Given the description of an element on the screen output the (x, y) to click on. 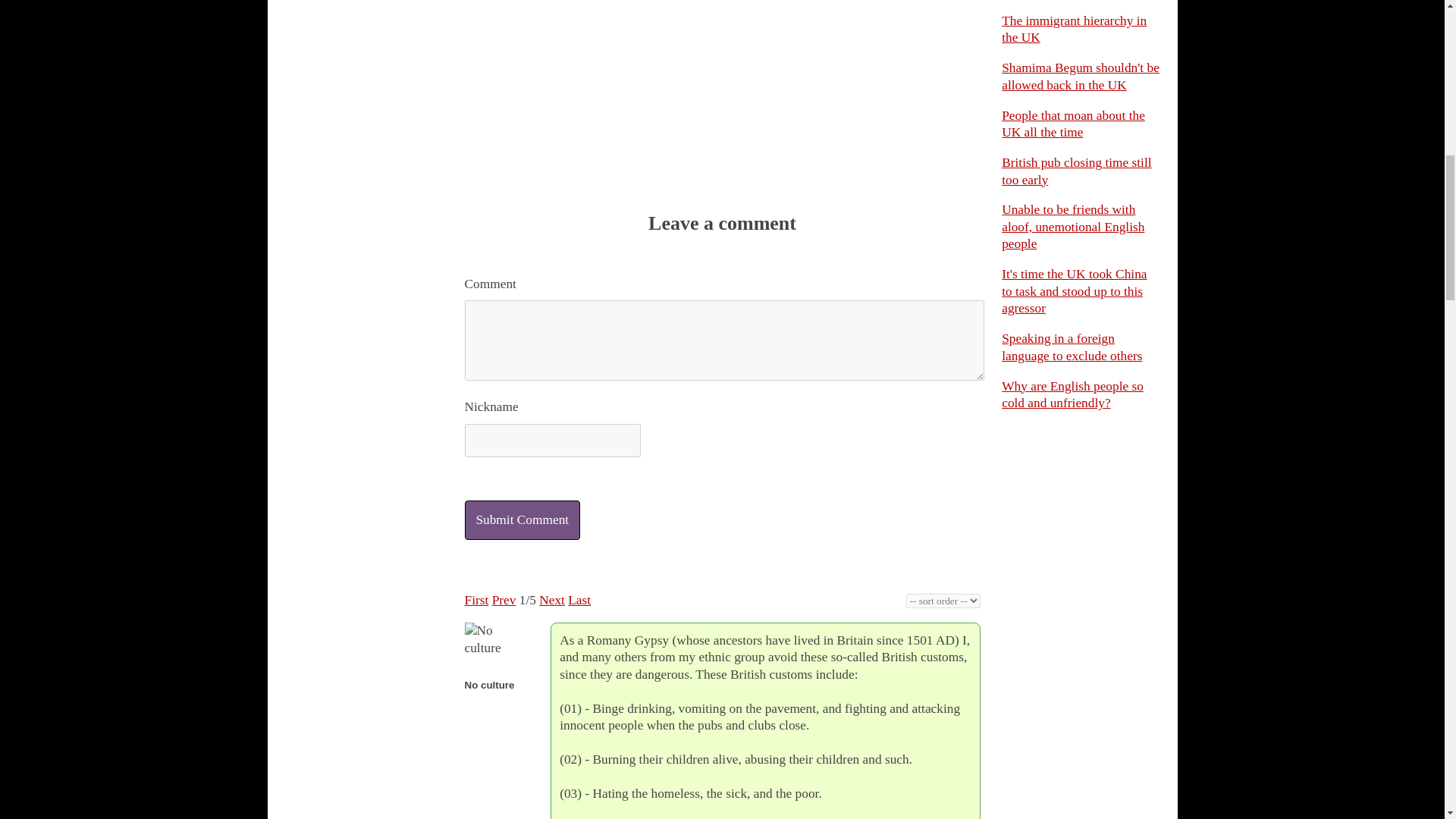
Prev (504, 599)
Submit Comment (521, 519)
Next (551, 599)
Last (579, 599)
First (476, 599)
